Given the description of an element on the screen output the (x, y) to click on. 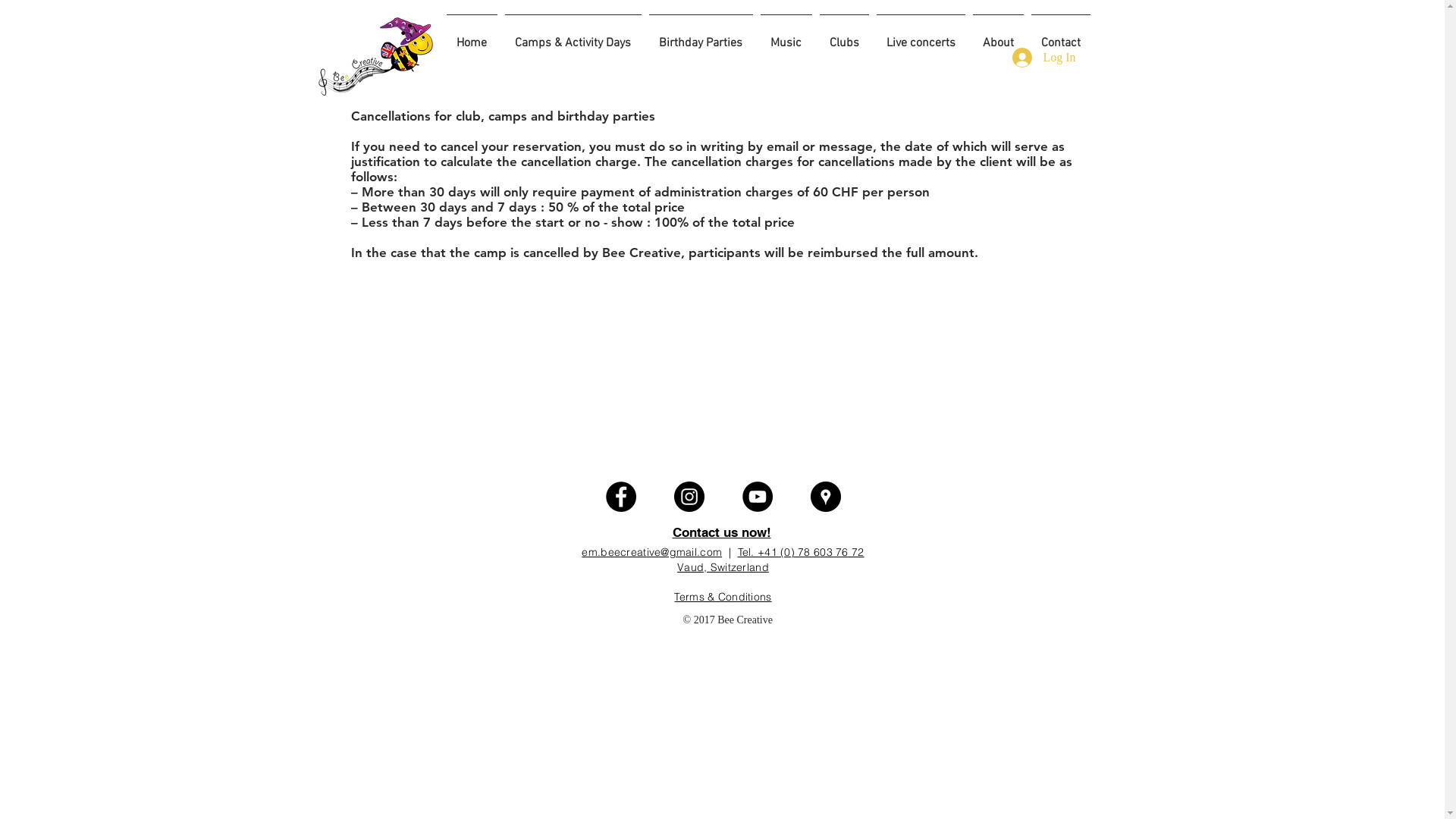
Log In Element type: text (1043, 57)
Clubs Element type: text (843, 36)
About Element type: text (998, 36)
em.beecreative@gmail.com Element type: text (651, 551)
Contact us now! Element type: text (720, 531)
Camps & Activity Days Element type: text (572, 36)
Contact Element type: text (1059, 36)
Birthday Parties Element type: text (700, 36)
Home Element type: text (471, 36)
Live concerts Element type: text (920, 36)
Music Element type: text (785, 36)
Tel. +41 (0) 78 603 76 72 Element type: text (800, 551)
Terms & Conditions Element type: text (722, 596)
